Given the description of an element on the screen output the (x, y) to click on. 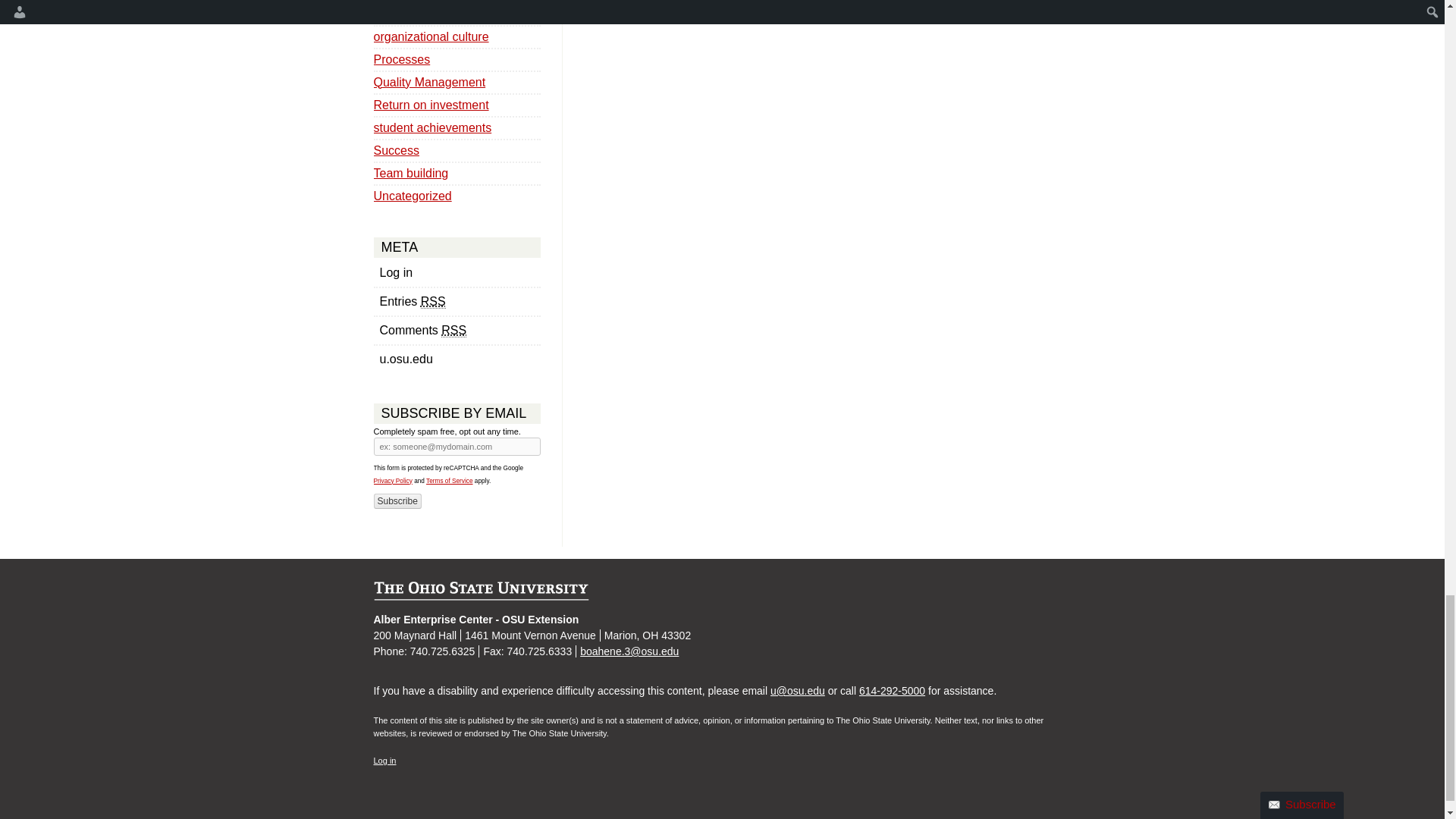
Powered by u.osu.edu (456, 358)
Really Simple Syndication (453, 330)
Really Simple Syndication (432, 301)
The latest comments to all posts in RSS (456, 329)
Syndicate this site using RSS 2.0 (456, 300)
Subscribe (396, 500)
